Given the description of an element on the screen output the (x, y) to click on. 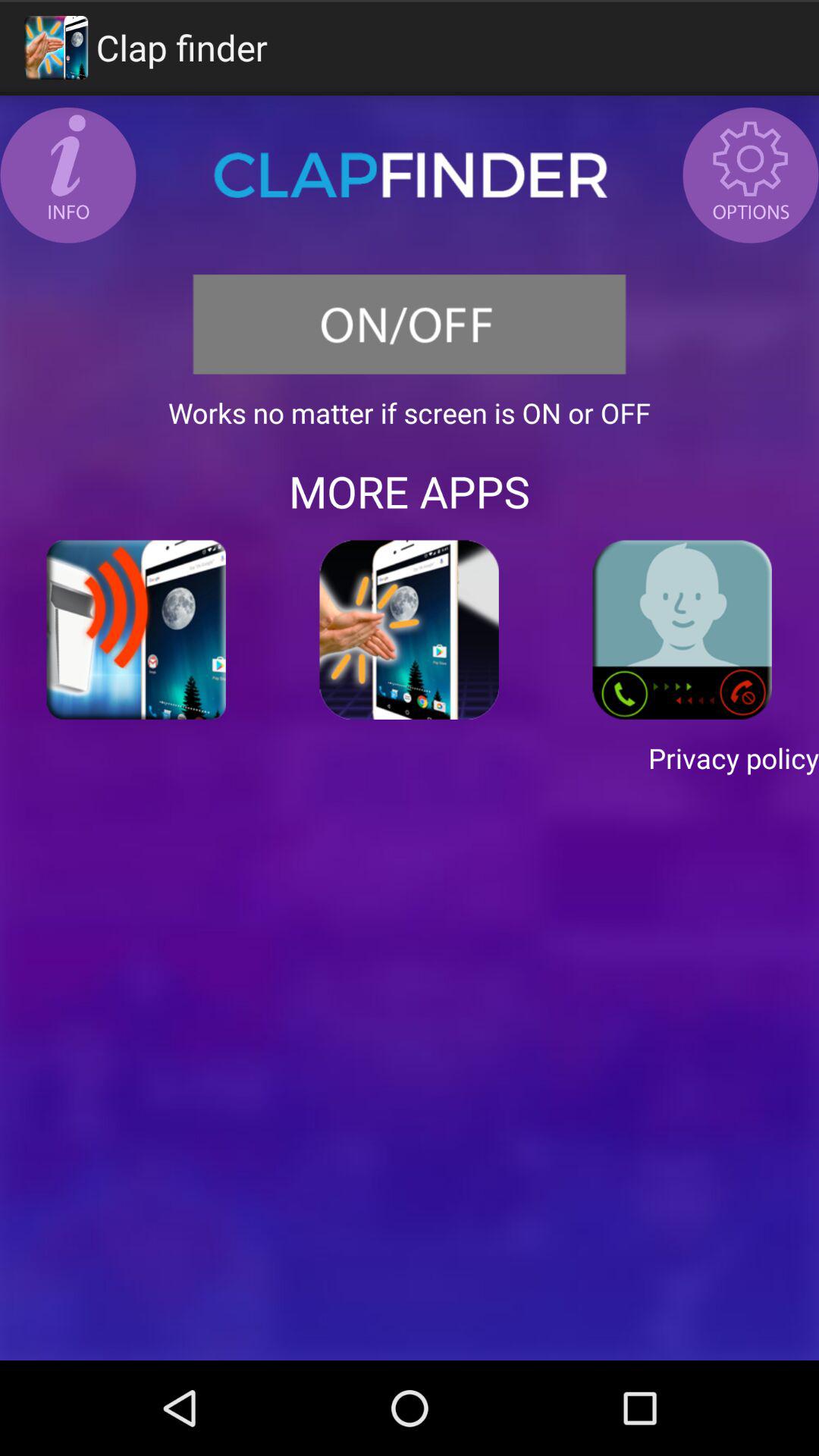
turn on the icon at the top right corner (750, 174)
